Given the description of an element on the screen output the (x, y) to click on. 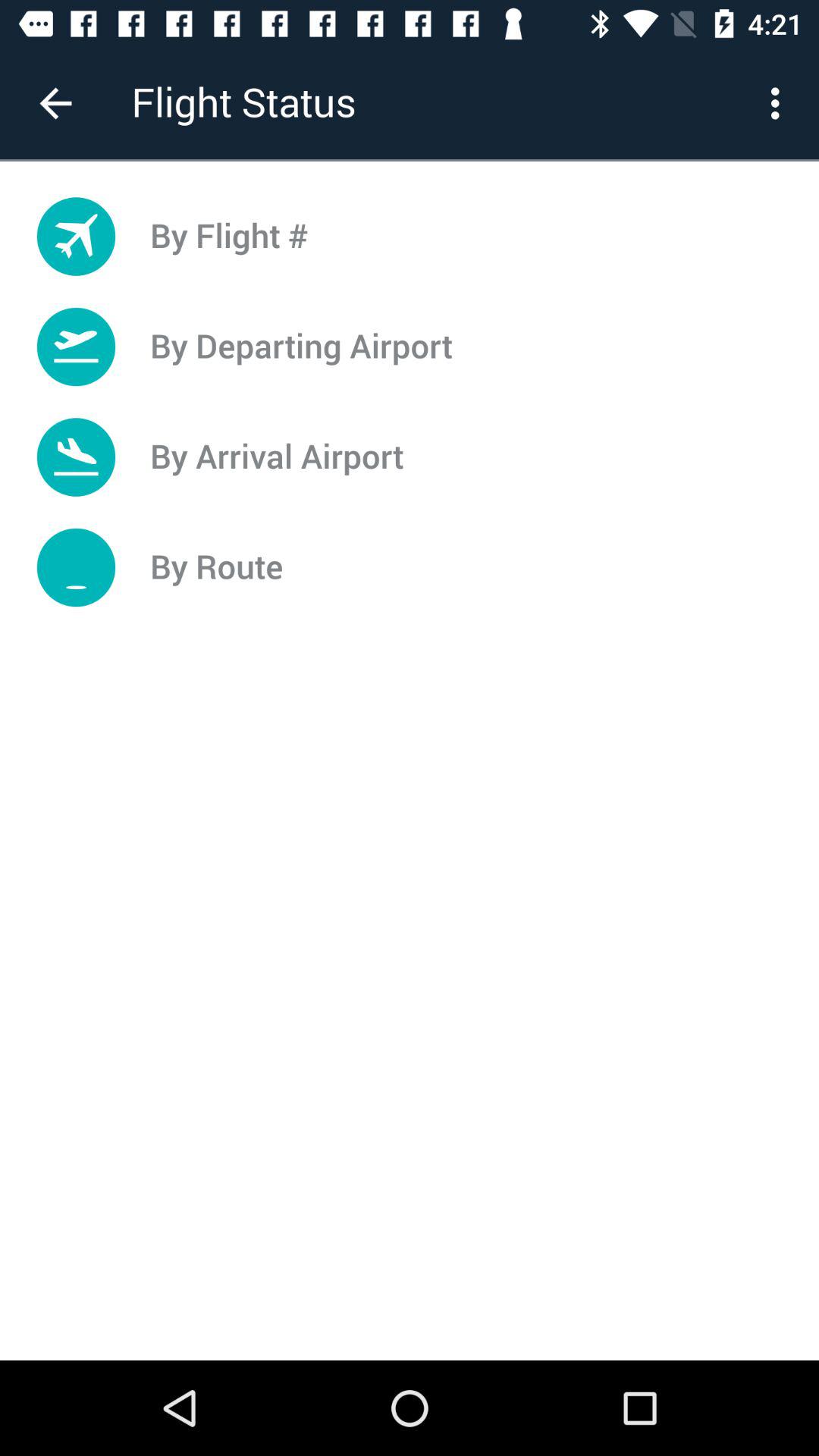
select icon at the top right corner (779, 103)
